Given the description of an element on the screen output the (x, y) to click on. 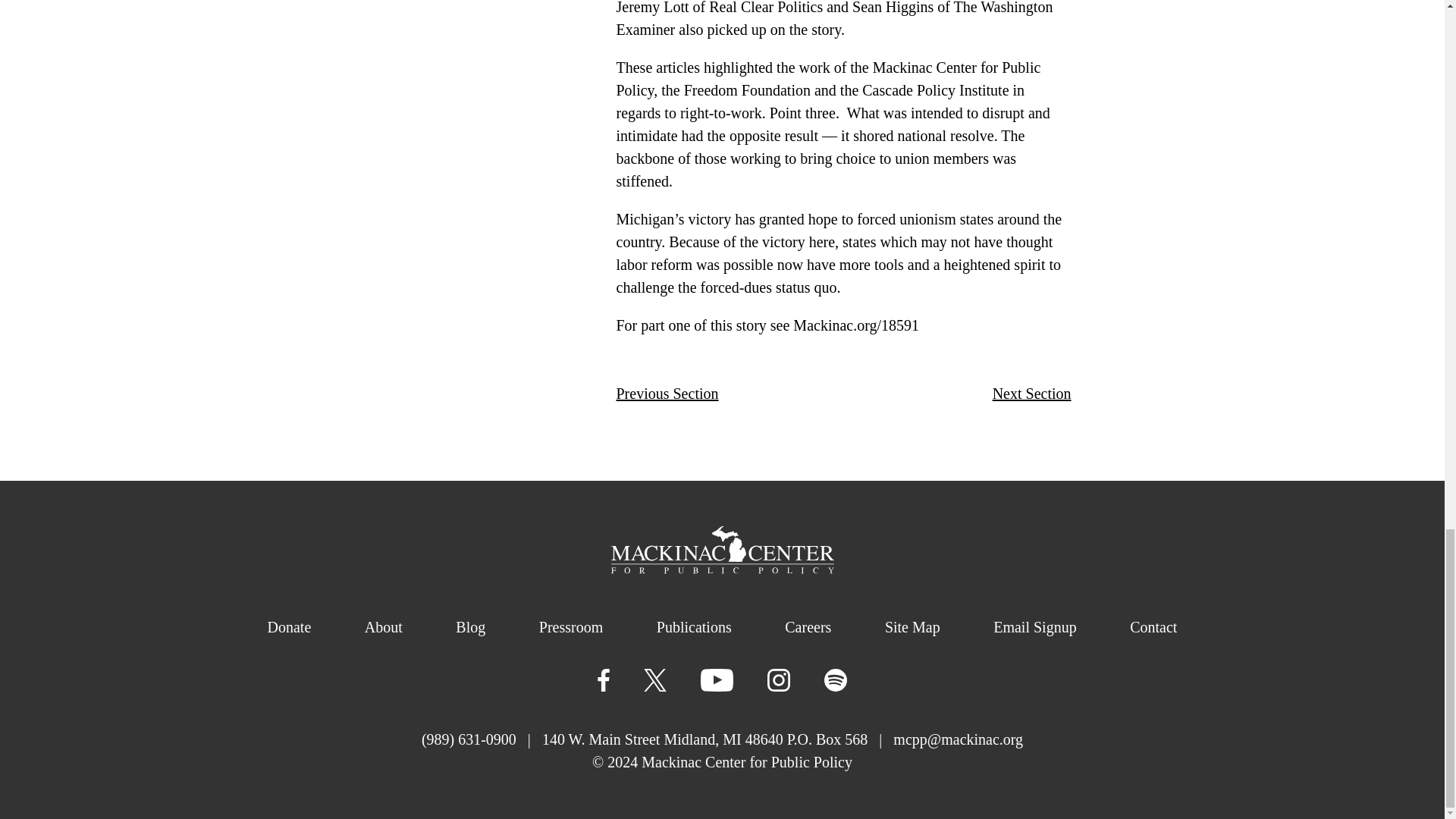
Blog (469, 626)
About (384, 626)
Previous Section (666, 393)
Next Section (1031, 393)
Donate (288, 626)
